Given the description of an element on the screen output the (x, y) to click on. 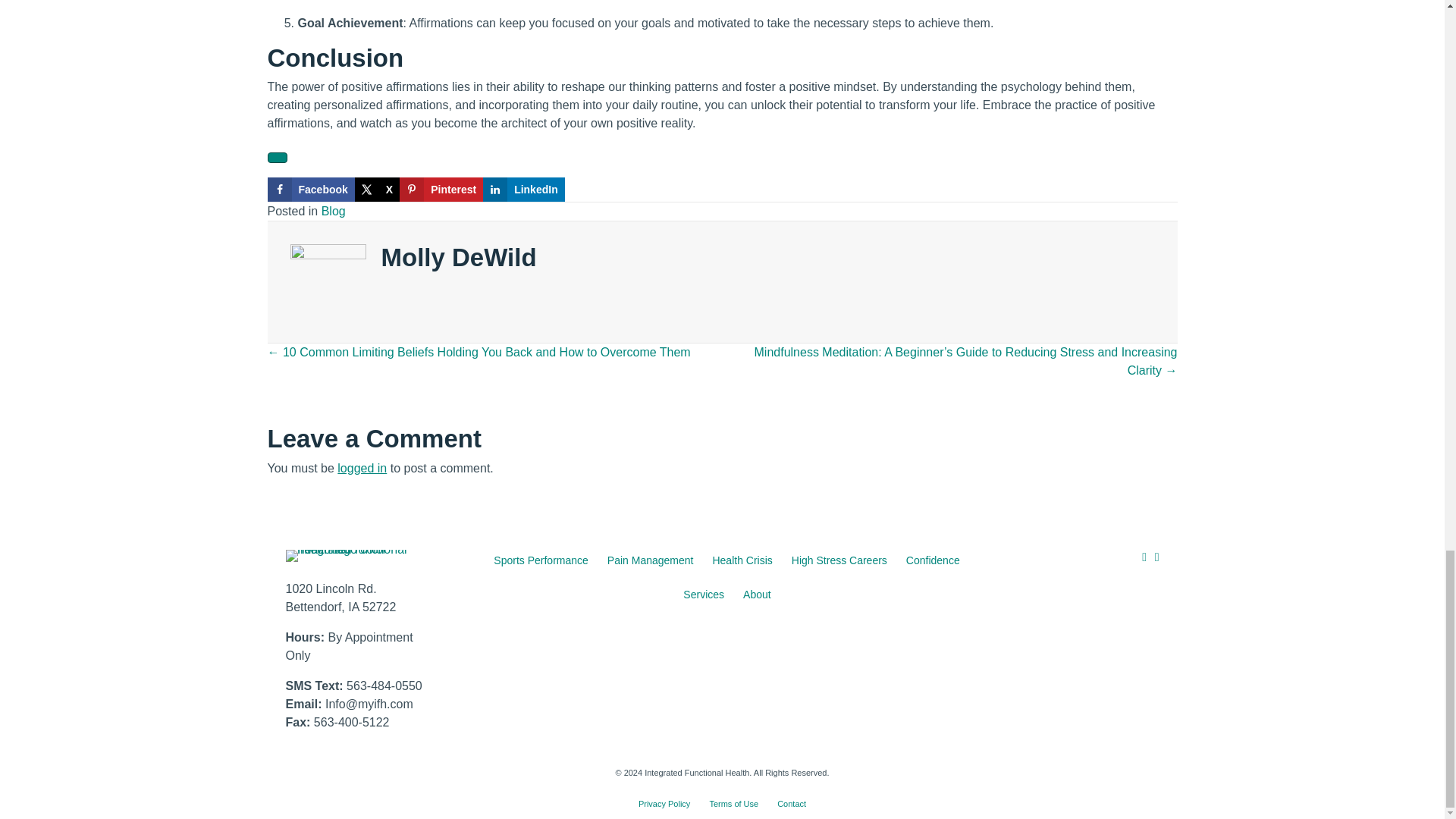
X (376, 189)
Pinterest (440, 189)
Sports Performance (540, 560)
Save to Pinterest (440, 189)
Health Crisis (741, 560)
Blog (333, 210)
LinkedIn (523, 189)
Share on Facebook (309, 189)
Share on LinkedIn (523, 189)
Pain Management (650, 560)
